Given the description of an element on the screen output the (x, y) to click on. 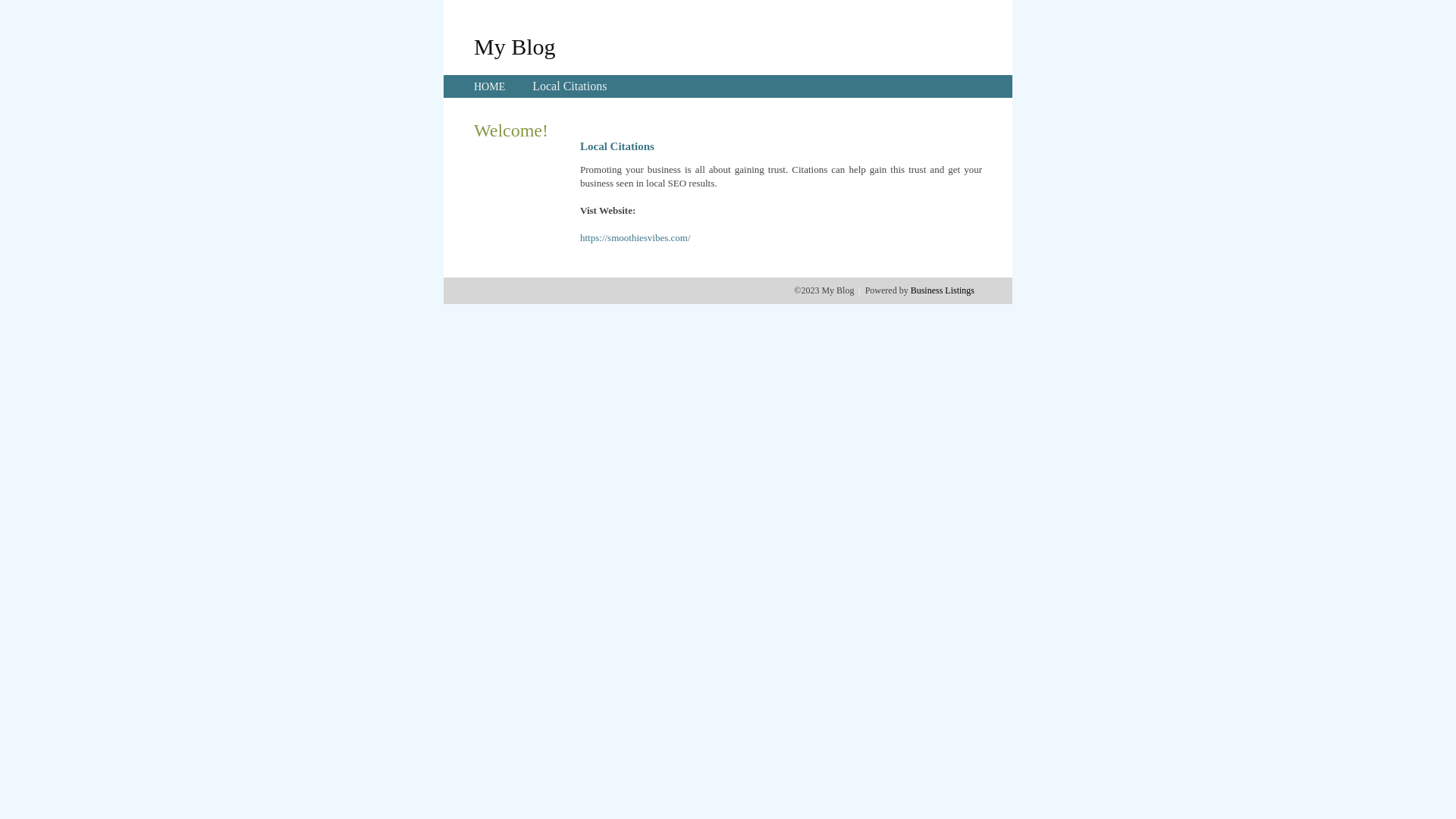
My Blog Element type: text (514, 46)
HOME Element type: text (489, 86)
Business Listings Element type: text (942, 290)
Local Citations Element type: text (569, 85)
https://smoothiesvibes.com/ Element type: text (635, 237)
